Given the description of an element on the screen output the (x, y) to click on. 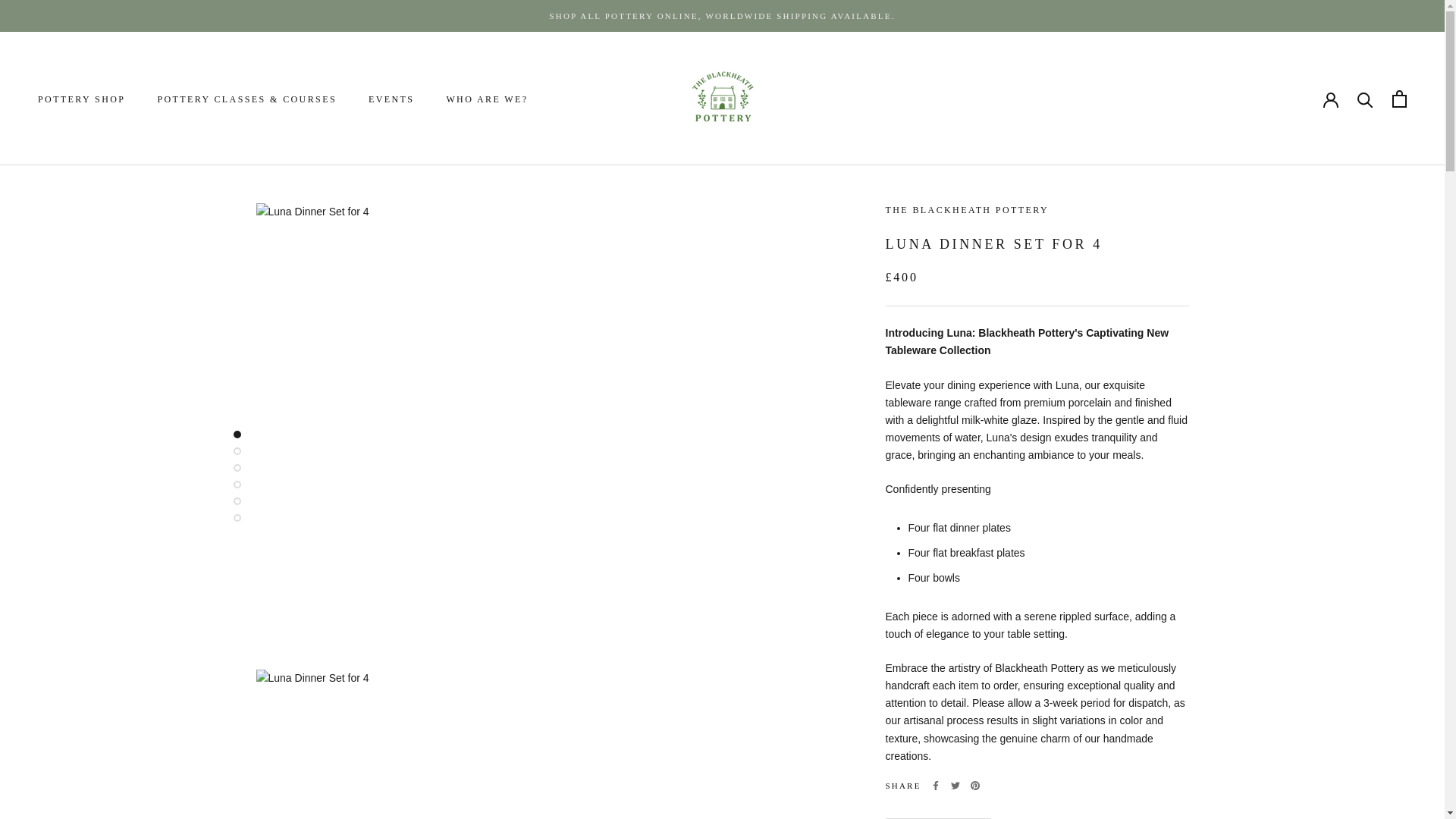
SHOP ALL POTTERY ONLINE, WORLDWIDE SHIPPING AVAILABLE. (721, 15)
POTTERY SHOP (81, 99)
